Given the description of an element on the screen output the (x, y) to click on. 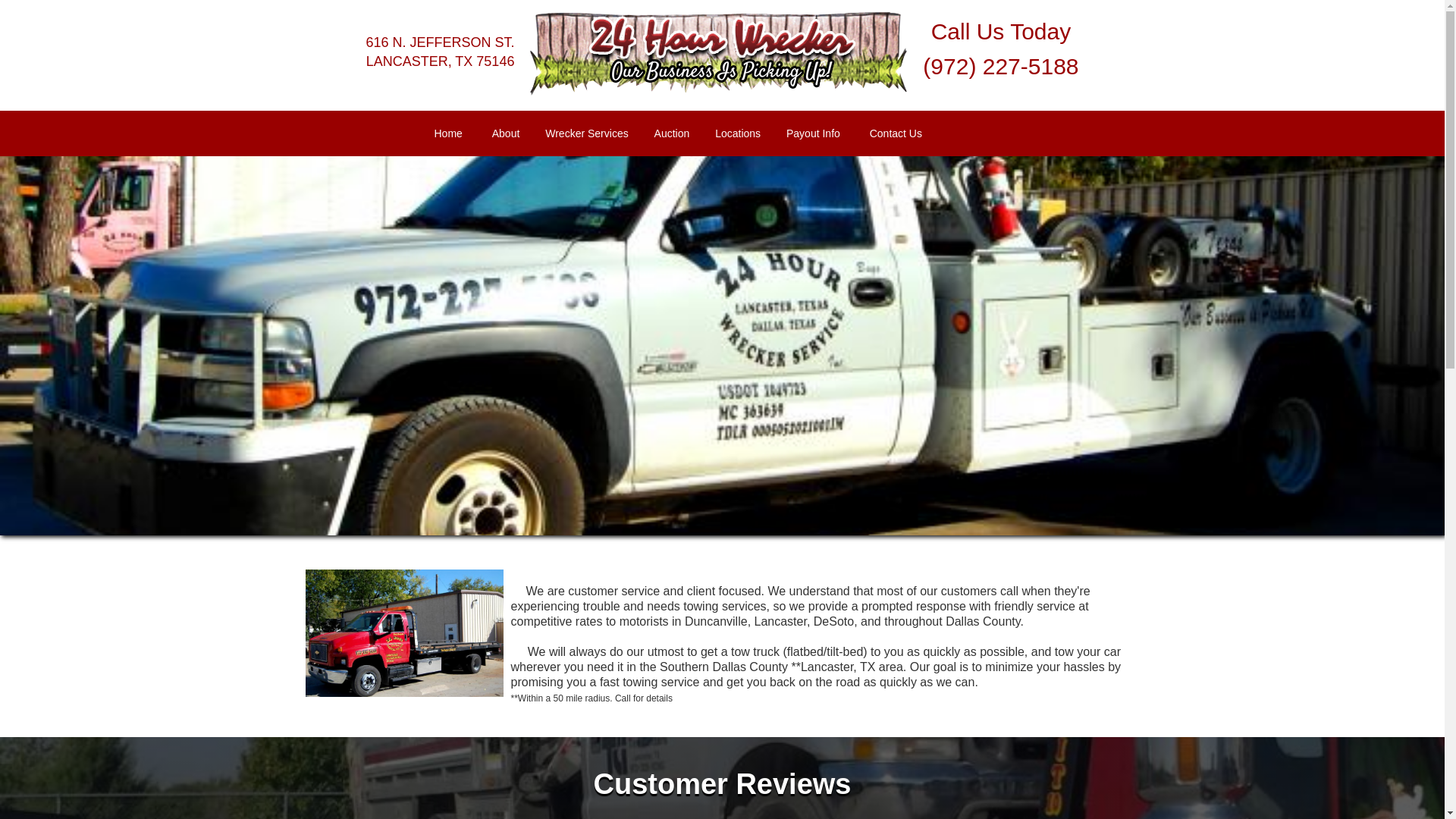
Locations Element type: text (737, 133)
Wrecker Services Element type: text (586, 133)
Contact Us Element type: text (895, 133)
(972) 227-5188 Element type: text (1000, 65)
Payout Info Element type: text (813, 133)
About Element type: text (505, 133)
616 N. JEFFERSON ST.
LANCASTER, TX 75146 Element type: text (439, 51)
Auction Element type: text (672, 133)
Home Element type: text (447, 133)
